Given the description of an element on the screen output the (x, y) to click on. 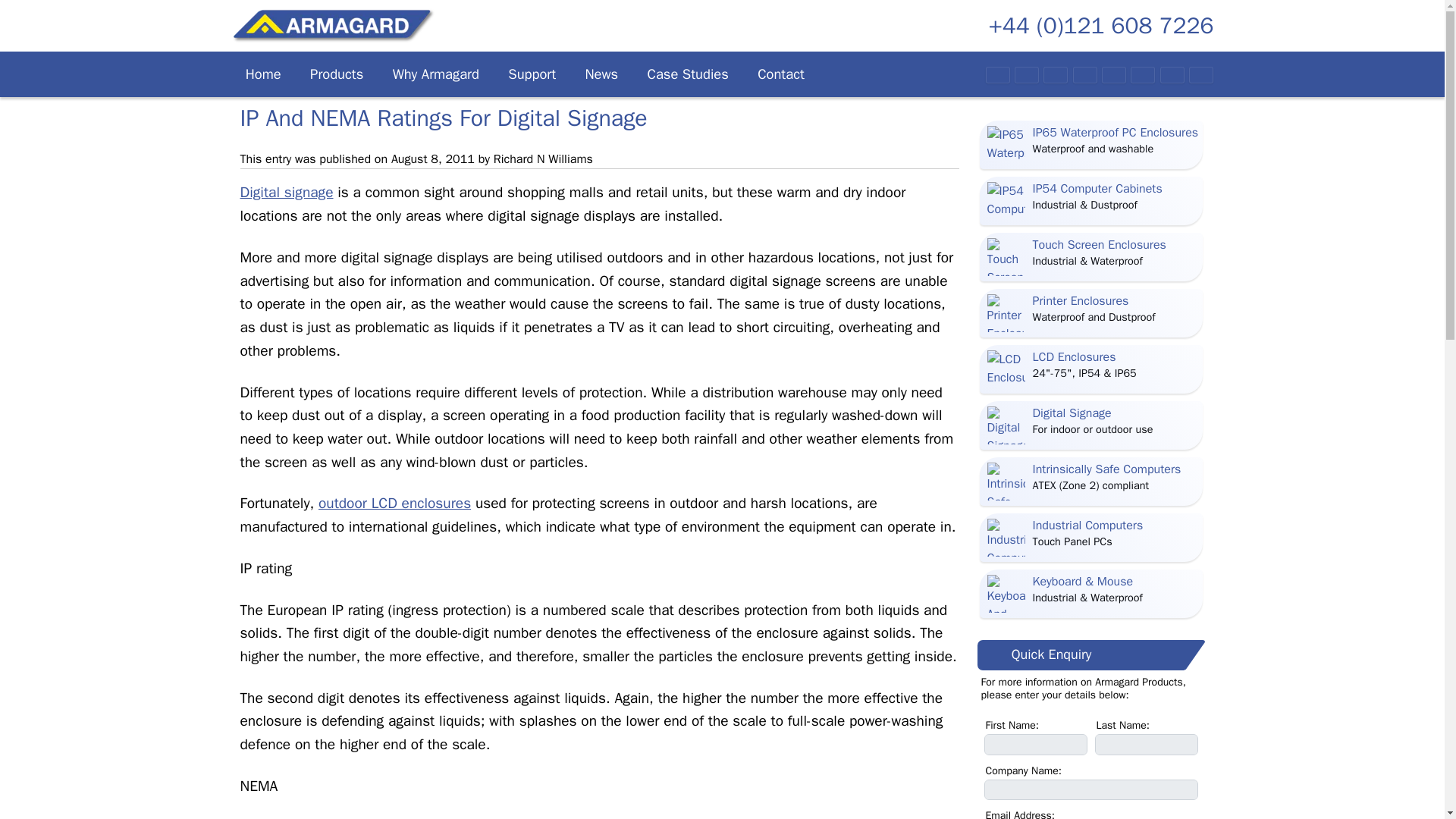
Contact (780, 74)
Support (531, 74)
Products (336, 74)
Contact (780, 74)
Products (336, 74)
News (600, 74)
Home (262, 74)
Digital signage (286, 192)
News (600, 74)
outdoor LCD enclosures (394, 503)
